Given the description of an element on the screen output the (x, y) to click on. 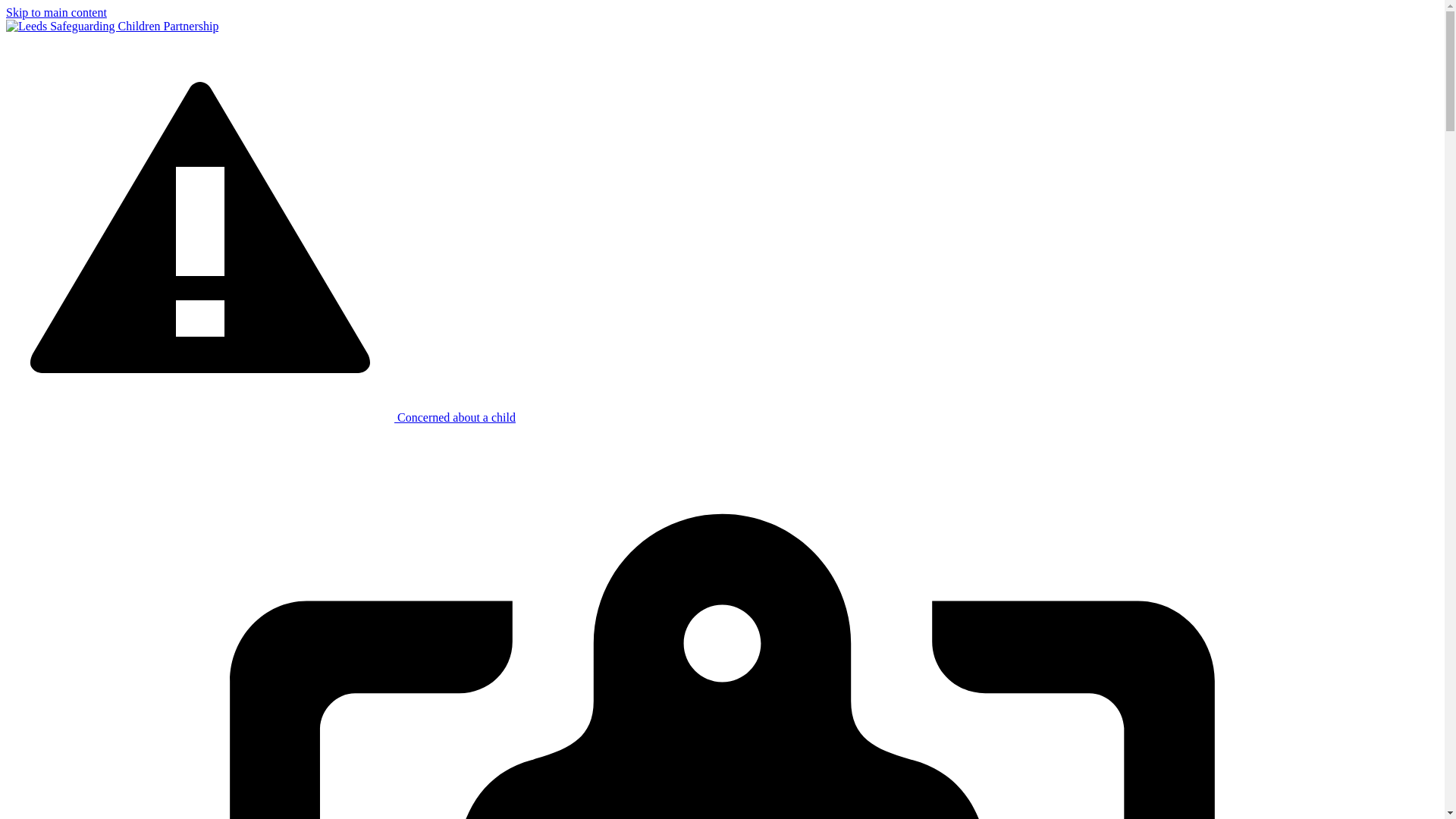
Concerned about a child (260, 417)
Skip to main content (55, 11)
